Given the description of an element on the screen output the (x, y) to click on. 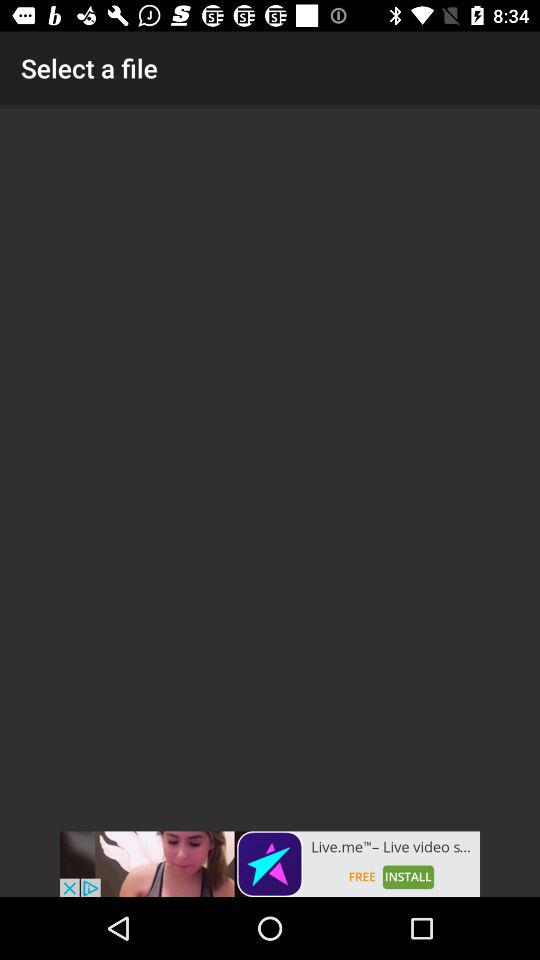
install app (270, 864)
